Given the description of an element on the screen output the (x, y) to click on. 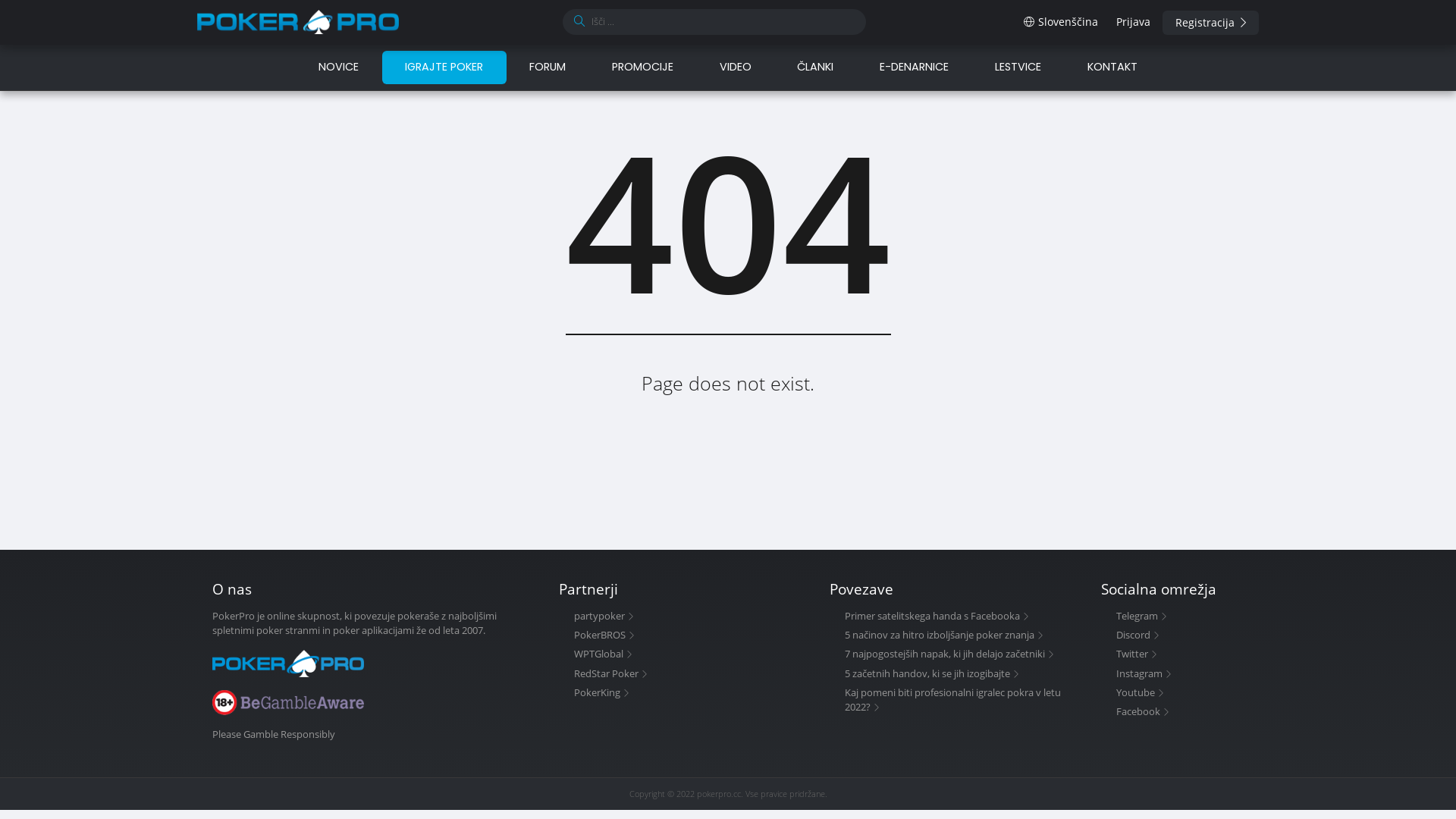
Instagram Element type: text (1144, 673)
NOVICE Element type: text (349, 67)
Telegram Element type: text (1141, 615)
Kaj pomeni biti profesionalni igralec pokra v letu 2022? Element type: text (952, 699)
WPTGlobal Element type: text (603, 653)
Primer satelitskega handa s Facebooka Element type: text (936, 615)
Discord Element type: text (1138, 634)
VIDEO Element type: text (735, 67)
KONTAKT Element type: text (1099, 67)
IGRAJTE POKER Element type: text (444, 67)
FORUM Element type: text (547, 67)
Youtube Element type: text (1140, 692)
PokerKing Element type: text (602, 692)
Twitter Element type: text (1136, 653)
LESTVICE Element type: text (1017, 67)
PokerBROS Element type: text (604, 634)
E-DENARNICE Element type: text (914, 67)
Facebook Element type: text (1143, 711)
RedStar Poker Element type: text (611, 673)
Prijava Element type: text (1133, 21)
Registracija Element type: text (1210, 22)
PROMOCIJE Element type: text (642, 67)
partypoker Element type: text (604, 615)
